Given the description of an element on the screen output the (x, y) to click on. 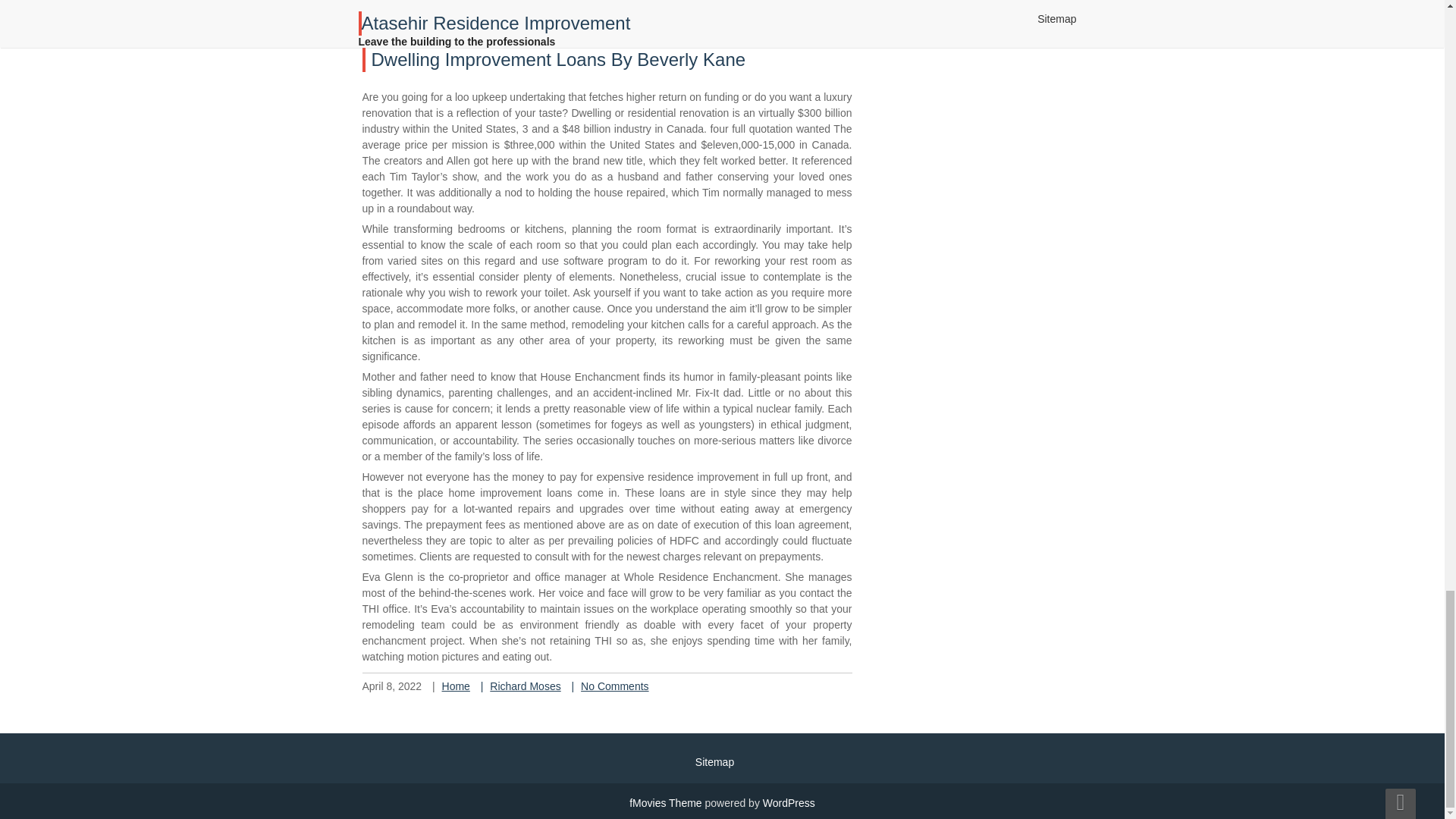
fmovies Theme (664, 802)
Home (456, 686)
Posts by Richard Moses (524, 686)
Posts by Richard Moses (531, 15)
Richard Moses (531, 15)
No Comments (613, 686)
Dwelling Improvement Loans By Beverly Kane (558, 59)
No Comments (619, 15)
Dwelling Improvement Loans By Beverly Kane (558, 59)
WordPress (788, 802)
Home (461, 15)
Richard Moses (524, 686)
